Given the description of an element on the screen output the (x, y) to click on. 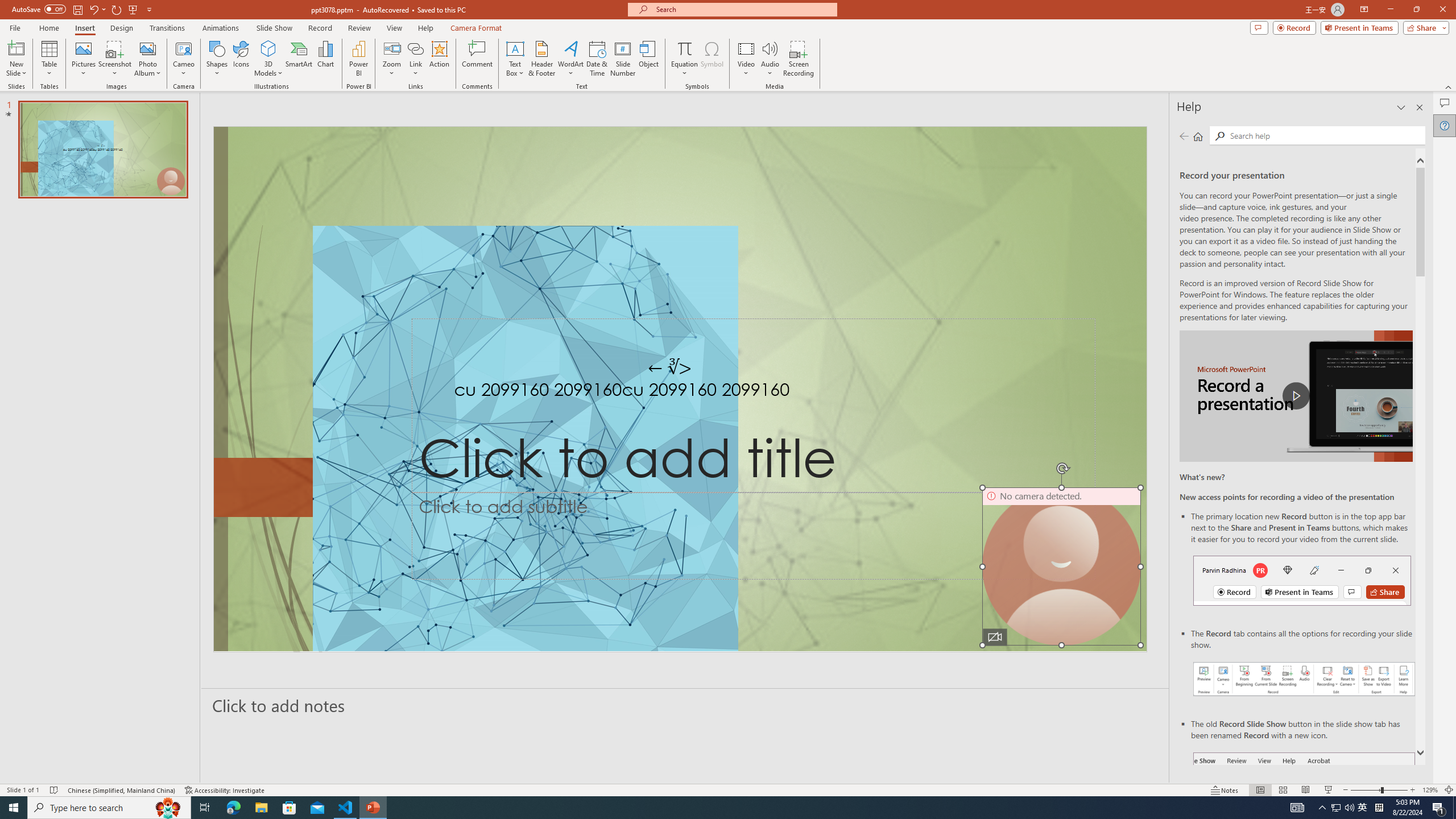
Screenshot (114, 58)
3D Models (268, 48)
Draw Horizontal Text Box (515, 48)
Screen Recording... (798, 58)
